Given the description of an element on the screen output the (x, y) to click on. 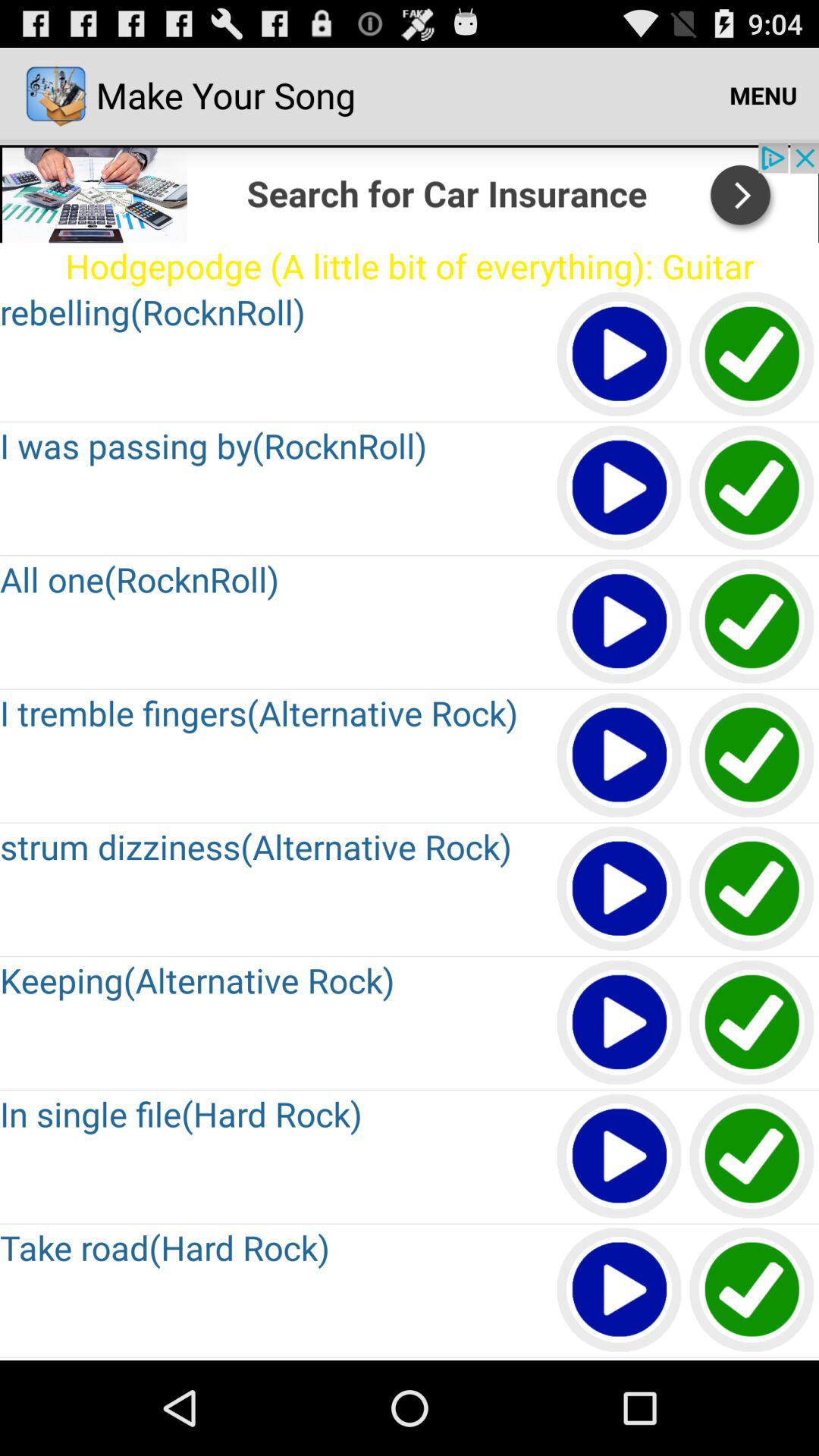
click to check box (752, 1156)
